Given the description of an element on the screen output the (x, y) to click on. 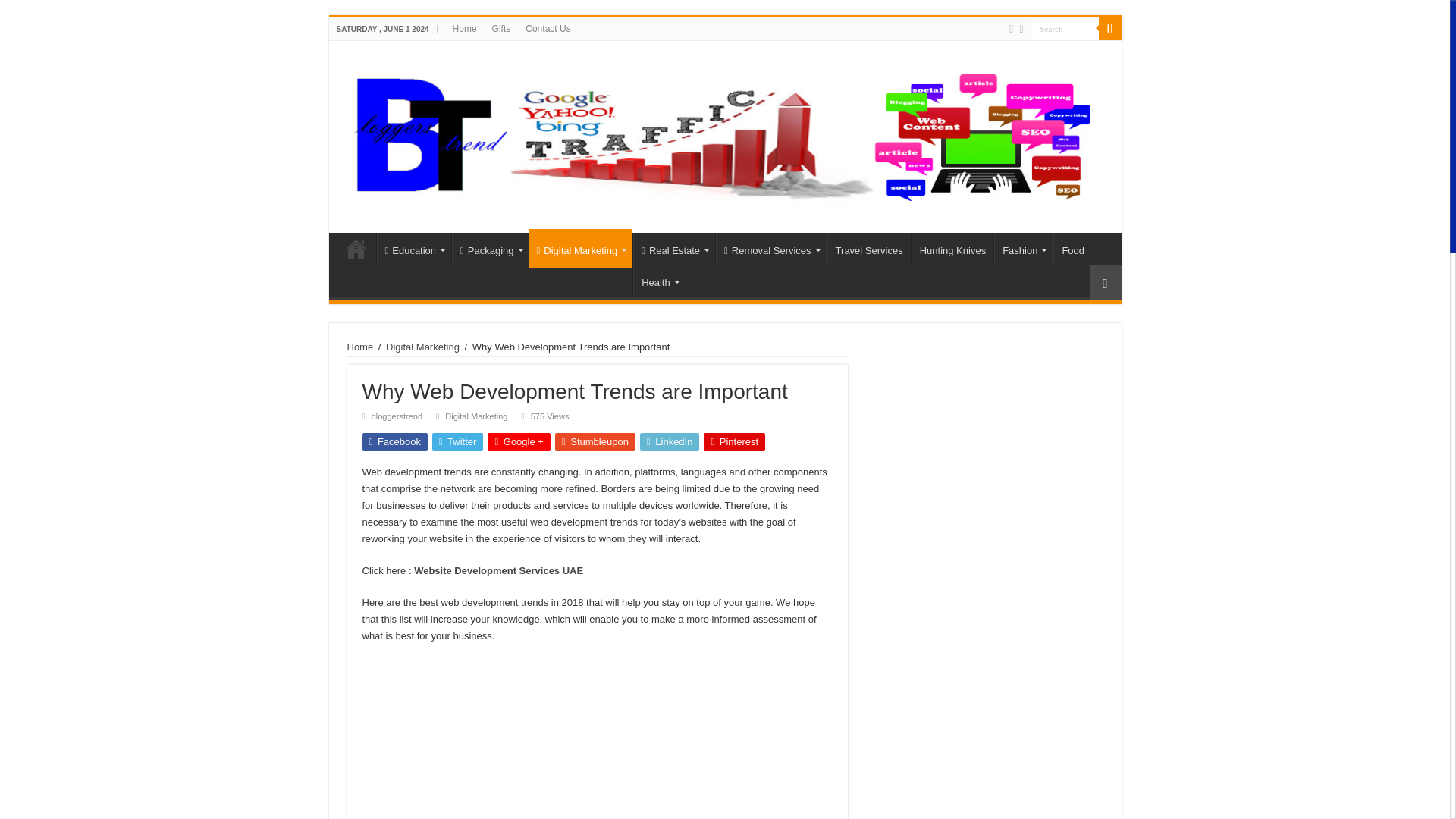
Contact Us (548, 28)
Search (1109, 28)
Real Estate (673, 248)
Digital Marketing (581, 248)
Packaging (489, 248)
Search (1063, 28)
Gifts (501, 28)
Home (464, 28)
Search (1063, 28)
Bloggers Trend (724, 134)
Home (355, 248)
Search (1063, 28)
Education (413, 248)
